Given the description of an element on the screen output the (x, y) to click on. 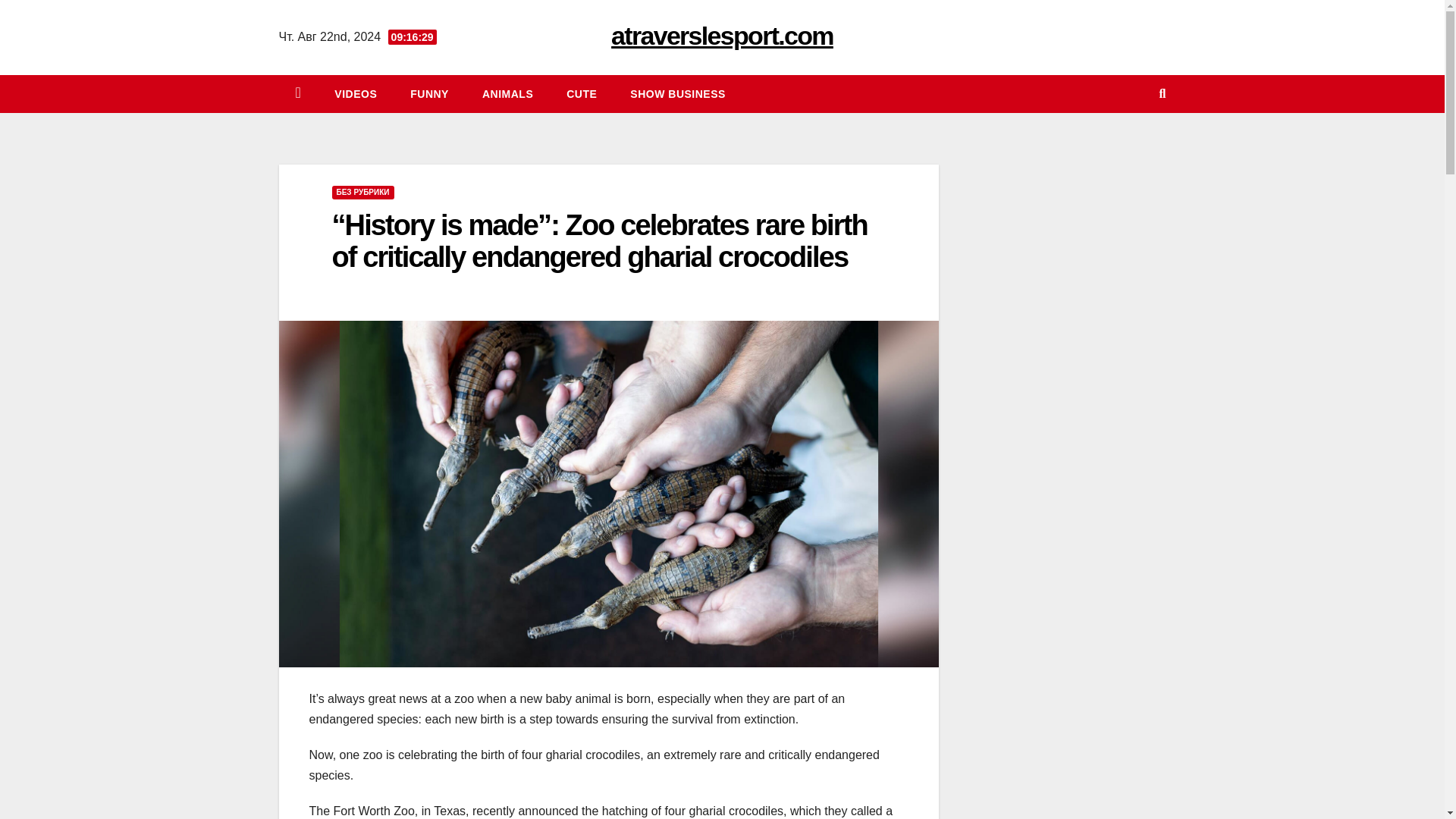
CUTE (581, 94)
VIDEOS (355, 94)
Videos (355, 94)
ANIMALS (507, 94)
Cute (581, 94)
Funny (429, 94)
SHOW BUSINESS (677, 94)
Show Business (677, 94)
Animals (507, 94)
atraverslesport.com (721, 35)
